Given the description of an element on the screen output the (x, y) to click on. 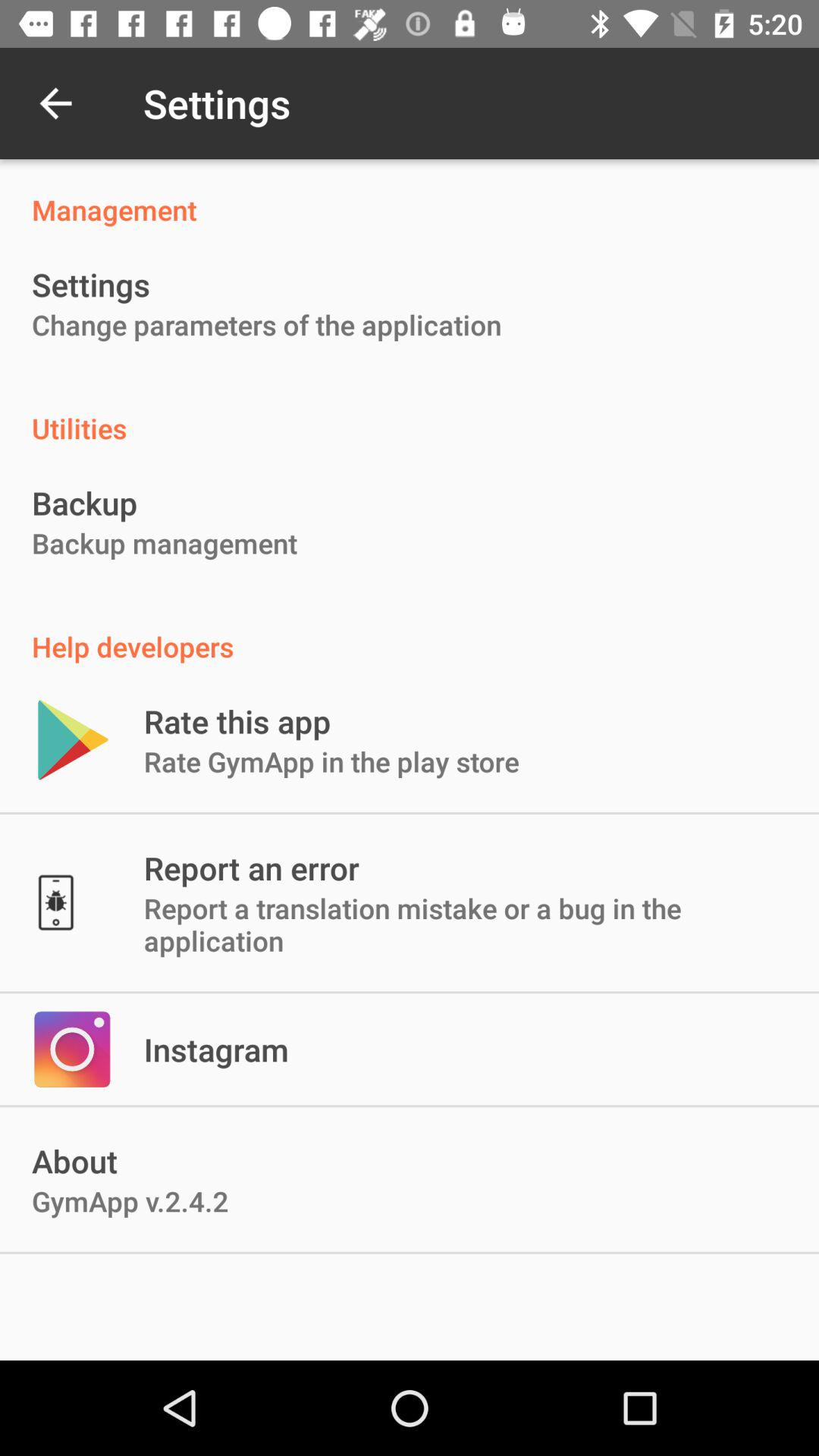
jump to report a translation (465, 924)
